Given the description of an element on the screen output the (x, y) to click on. 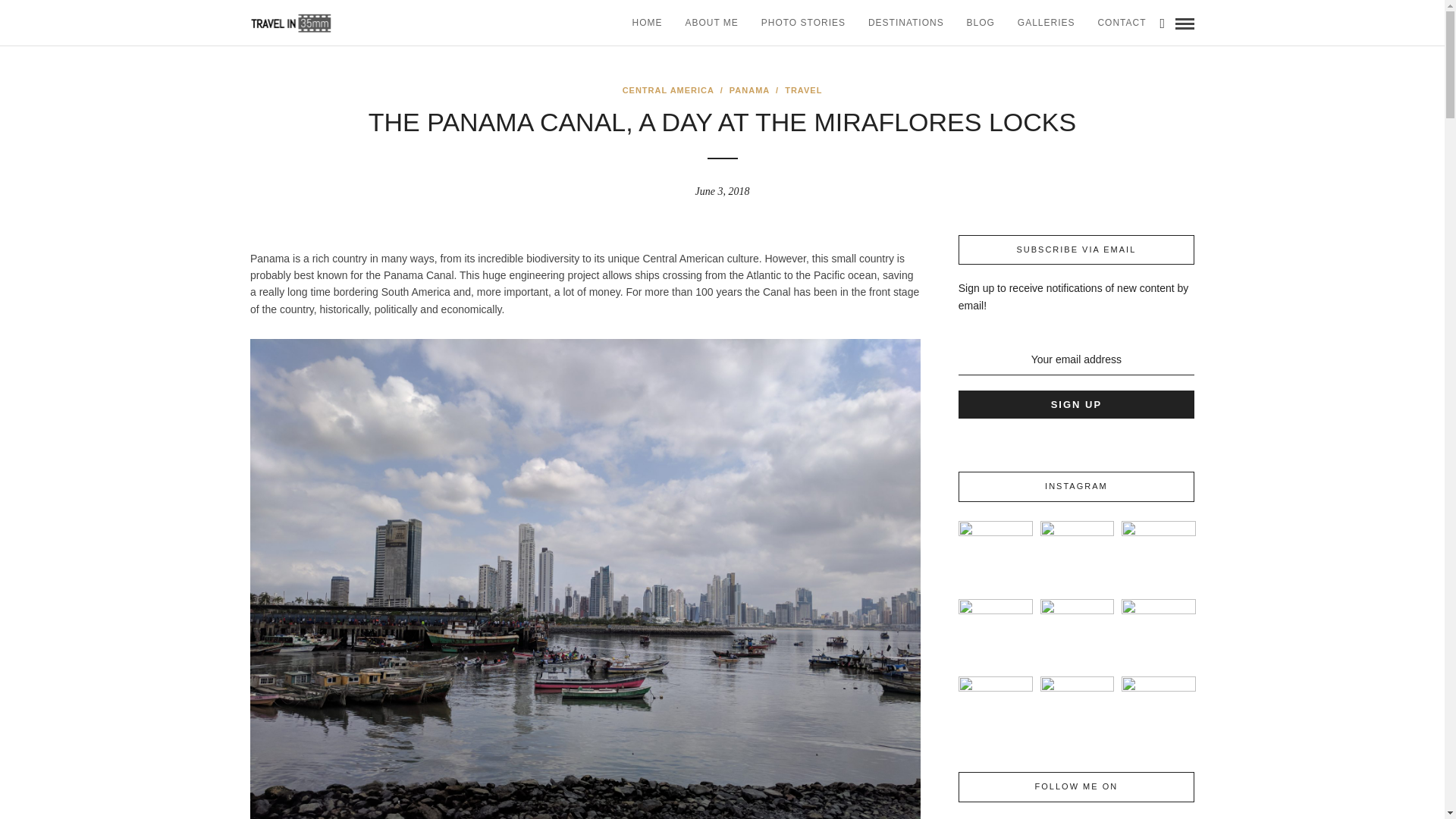
Sign up (1075, 404)
DESTINATIONS (906, 23)
PANAMA (749, 90)
GALLERIES (1045, 23)
CONTACT (1121, 23)
PHOTO STORIES (803, 23)
ABOUT ME (711, 23)
HOME (646, 23)
TRAVEL (803, 90)
BLOG (980, 23)
CENTRAL AMERICA (668, 90)
